Given the description of an element on the screen output the (x, y) to click on. 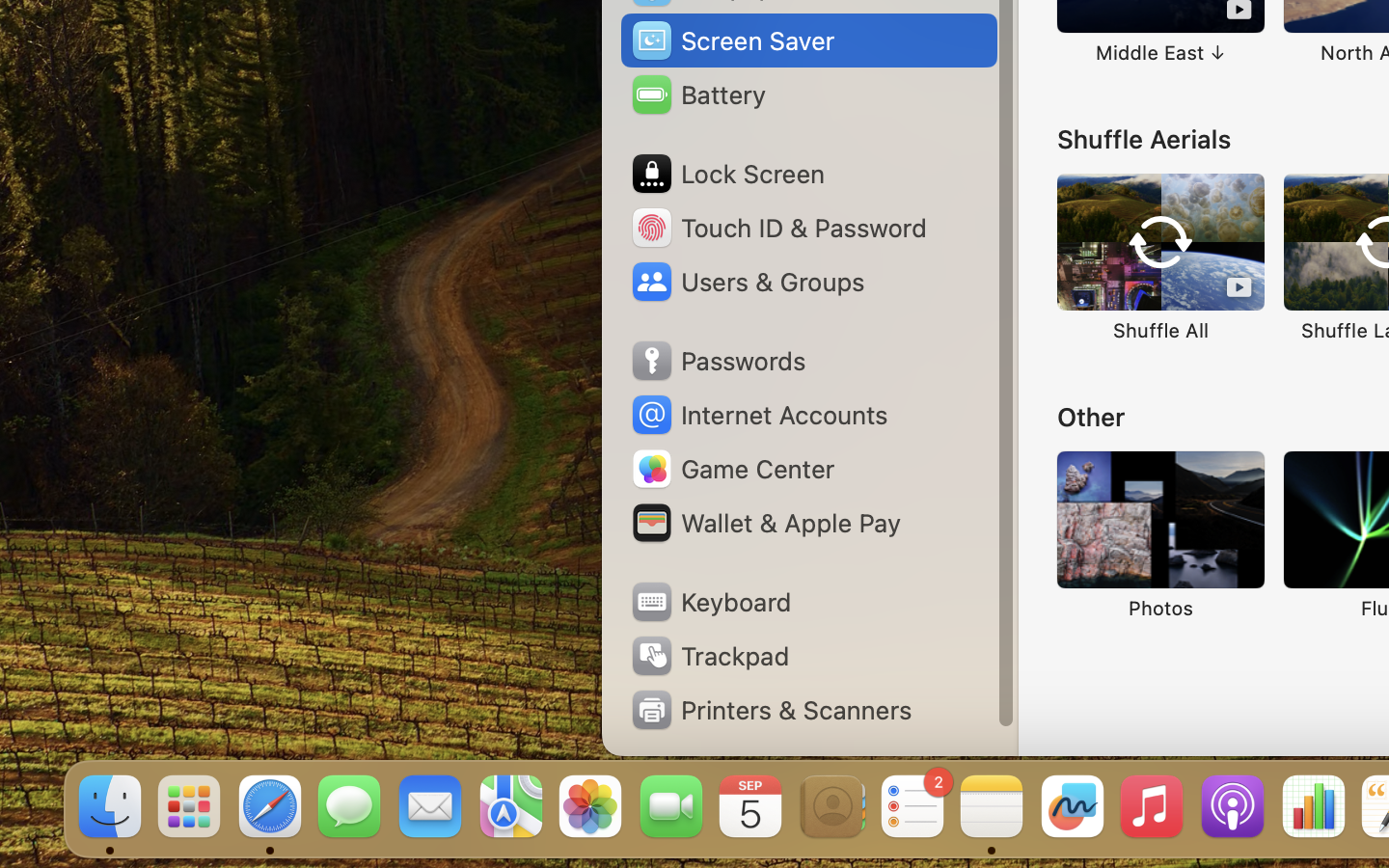
Lock Screen Element type: AXStaticText (726, 173)
Passwords Element type: AXStaticText (717, 360)
Battery Element type: AXStaticText (696, 94)
Printers & Scanners Element type: AXStaticText (770, 709)
Screen Saver Element type: AXStaticText (731, 40)
